Given the description of an element on the screen output the (x, y) to click on. 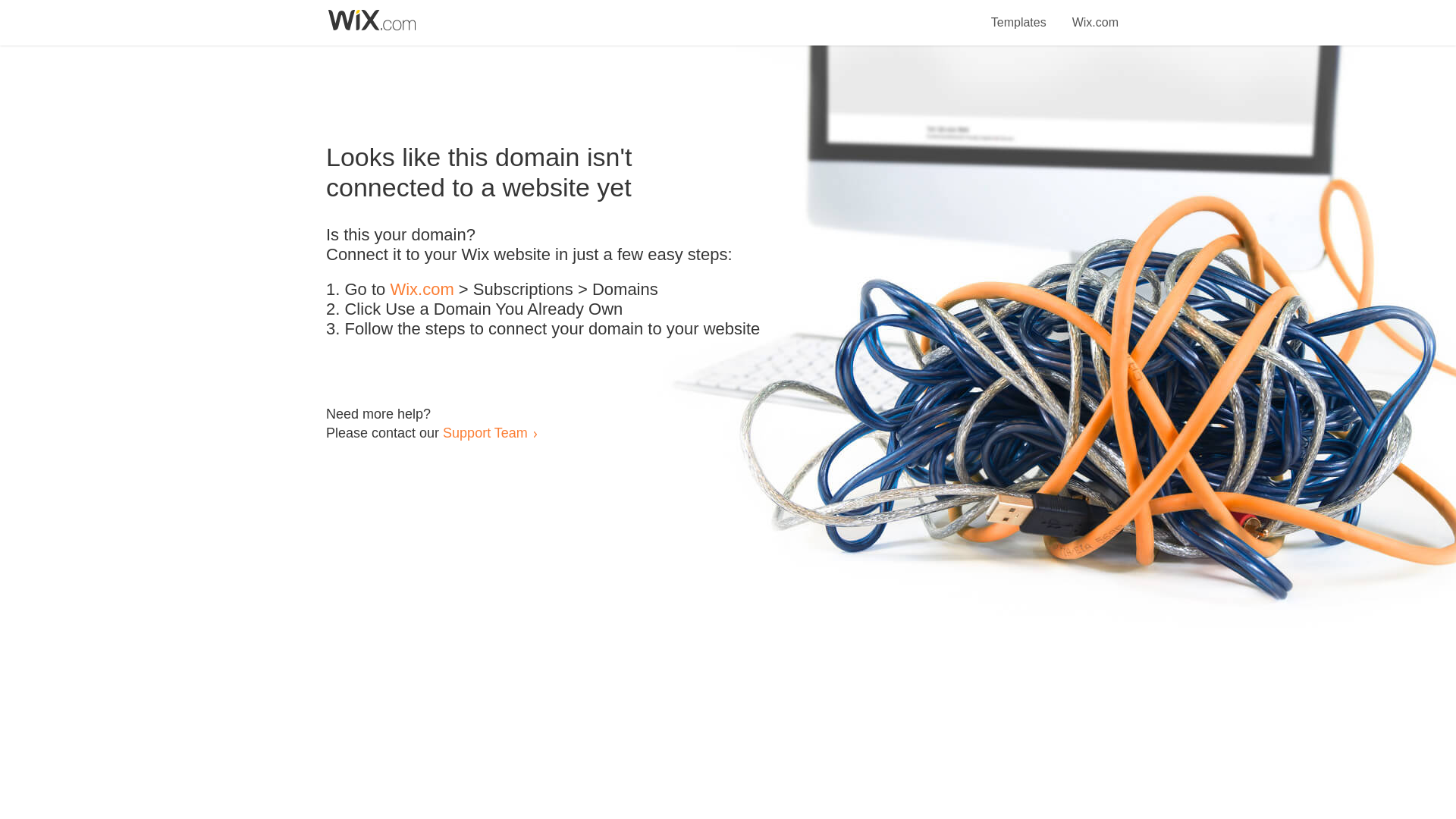
Support Team (484, 432)
Wix.com (1095, 14)
Templates (1018, 14)
Wix.com (421, 289)
